Given the description of an element on the screen output the (x, y) to click on. 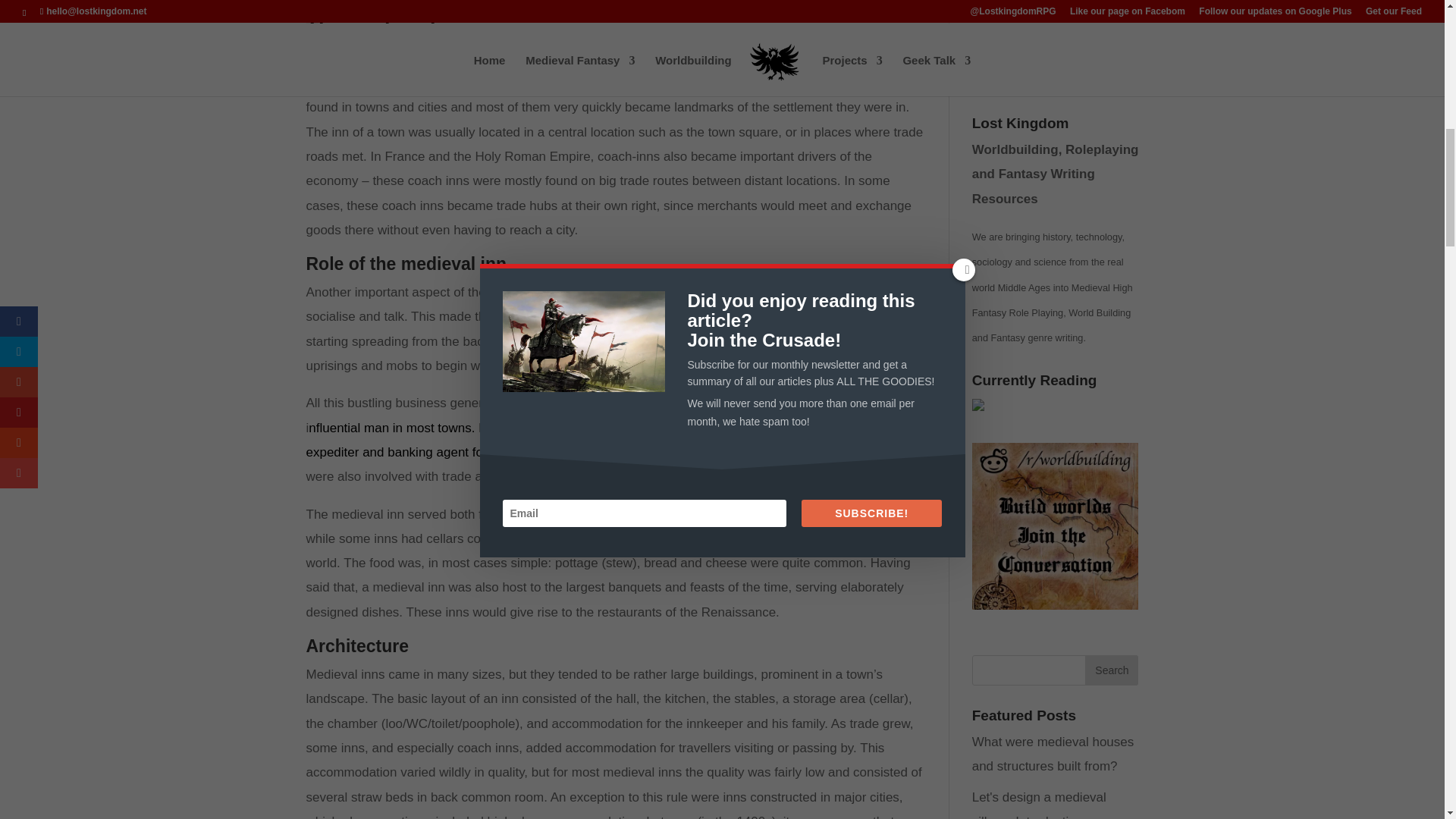
Advertisement (1085, 42)
Search (1111, 670)
